Given the description of an element on the screen output the (x, y) to click on. 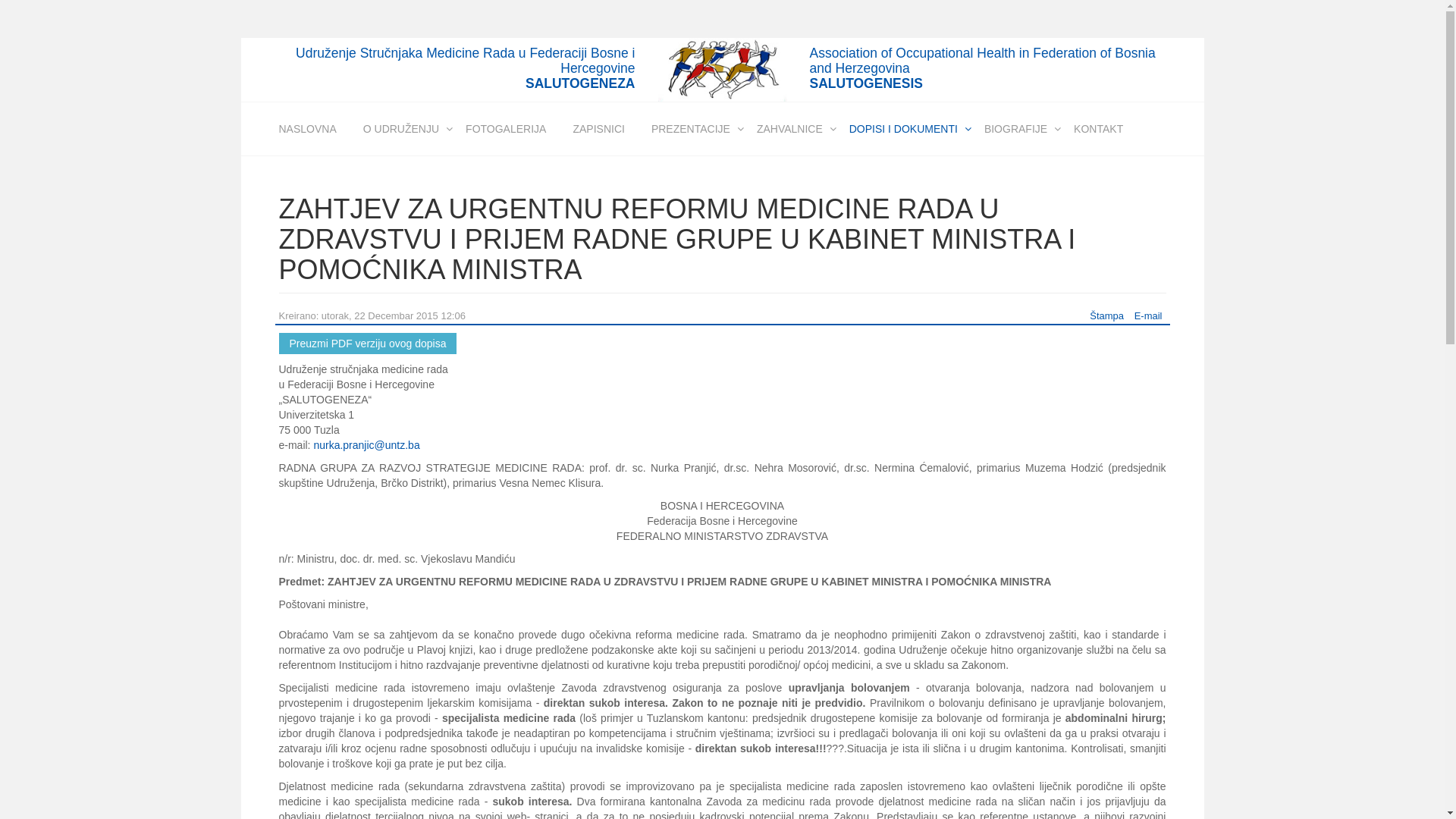
E-mail Element type: text (1148, 315)
FOTOGALERIJA Element type: text (505, 128)
Preuzmi PDF verziju ovog dopisa Element type: text (368, 343)
ZAHVALNICE Element type: text (789, 128)
nurka.pranjic@untz.ba Element type: text (366, 445)
NASLOVNA Element type: text (311, 128)
PREZENTACIJE Element type: text (690, 128)
DOPISI I DOKUMENTI Element type: text (903, 128)
ZAPISNICI Element type: text (597, 128)
KONTAKT Element type: text (1098, 128)
BIOGRAFIJE Element type: text (1015, 128)
